Given the description of an element on the screen output the (x, y) to click on. 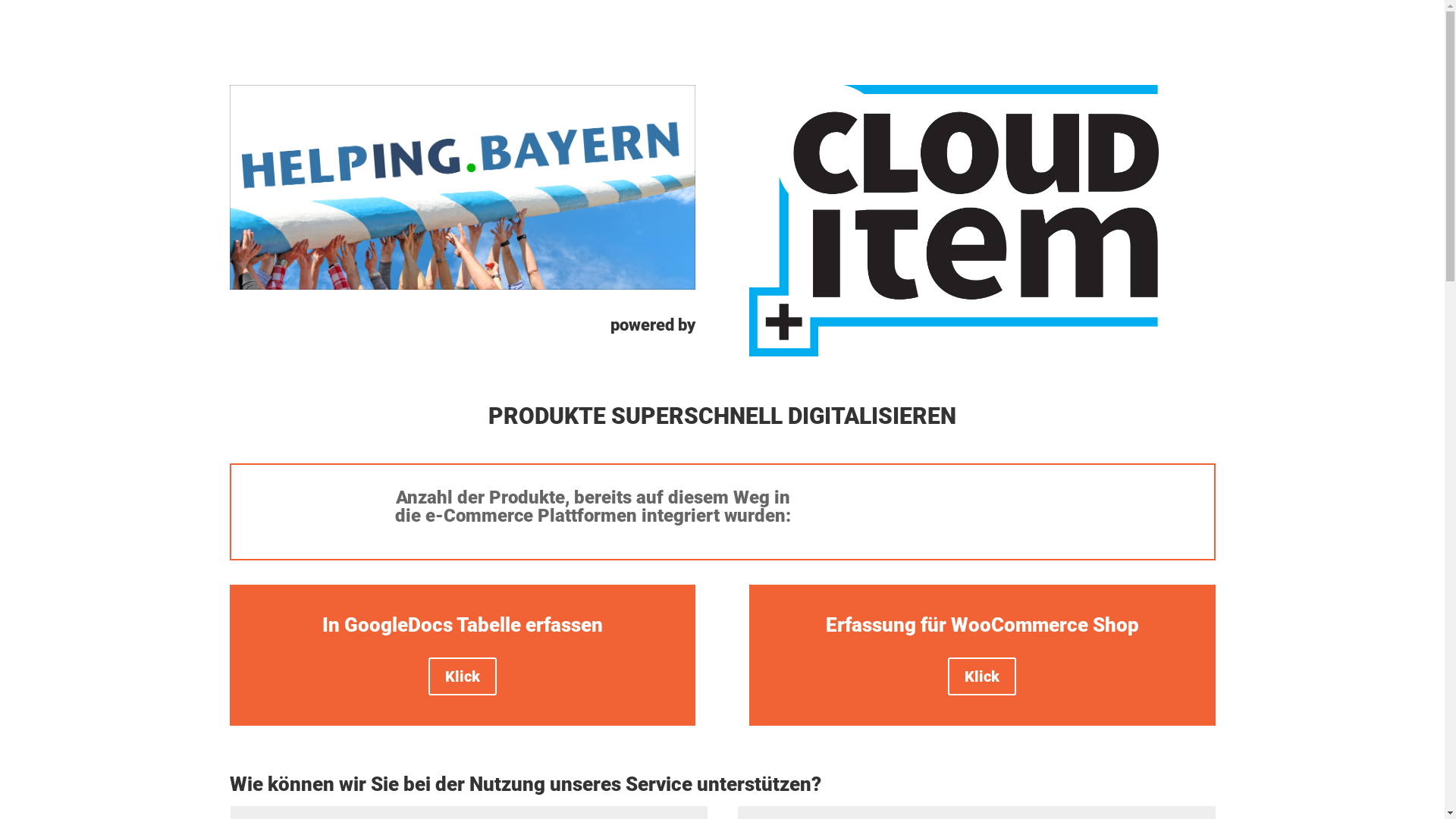
Klick Element type: text (981, 676)
Klick Element type: text (462, 676)
